Given the description of an element on the screen output the (x, y) to click on. 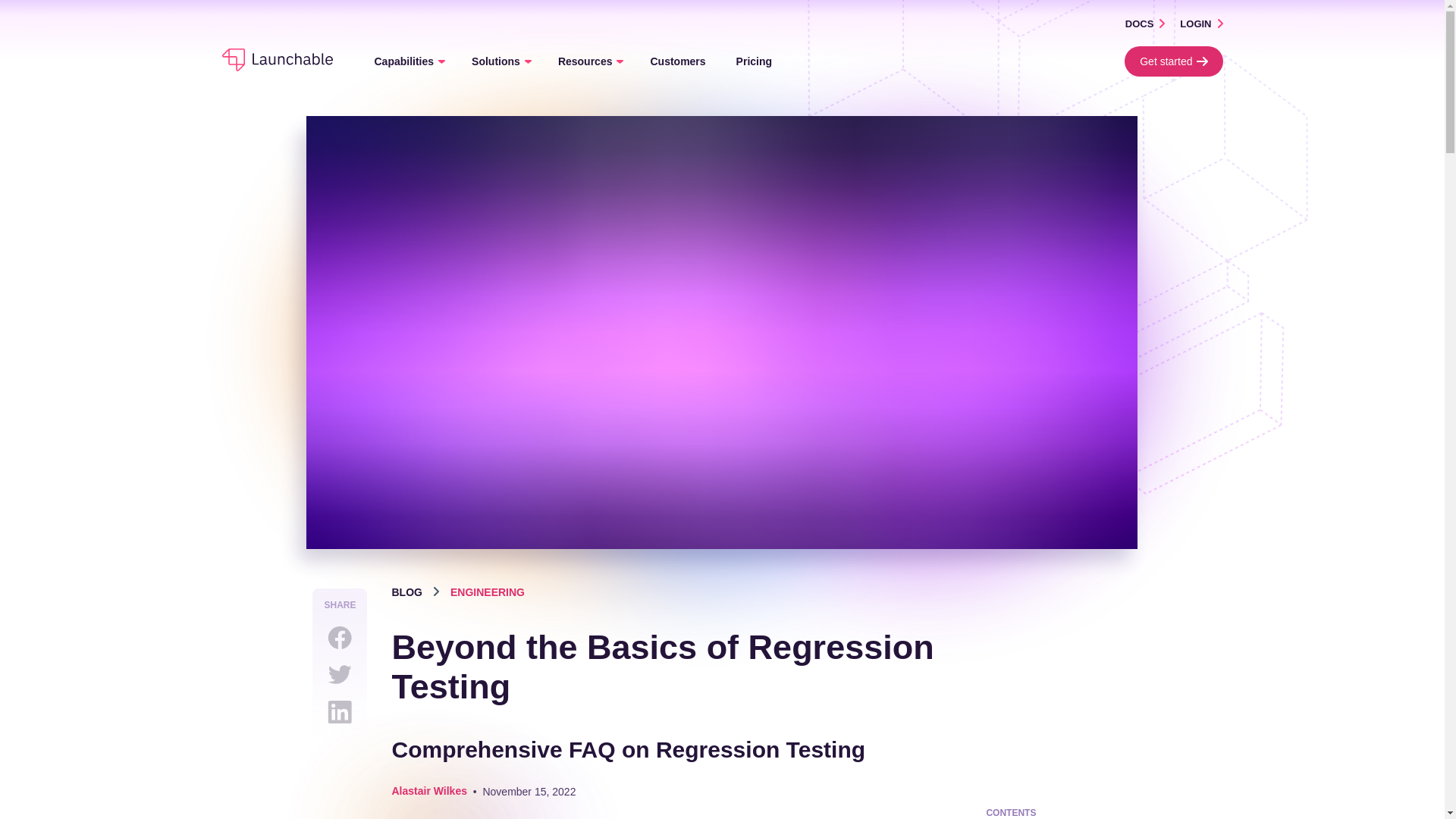
Capabilities (408, 61)
DOCS (1152, 22)
LOGIN (1208, 22)
Solutions (500, 61)
November 15, 2022 (528, 791)
Resources (588, 61)
